Given the description of an element on the screen output the (x, y) to click on. 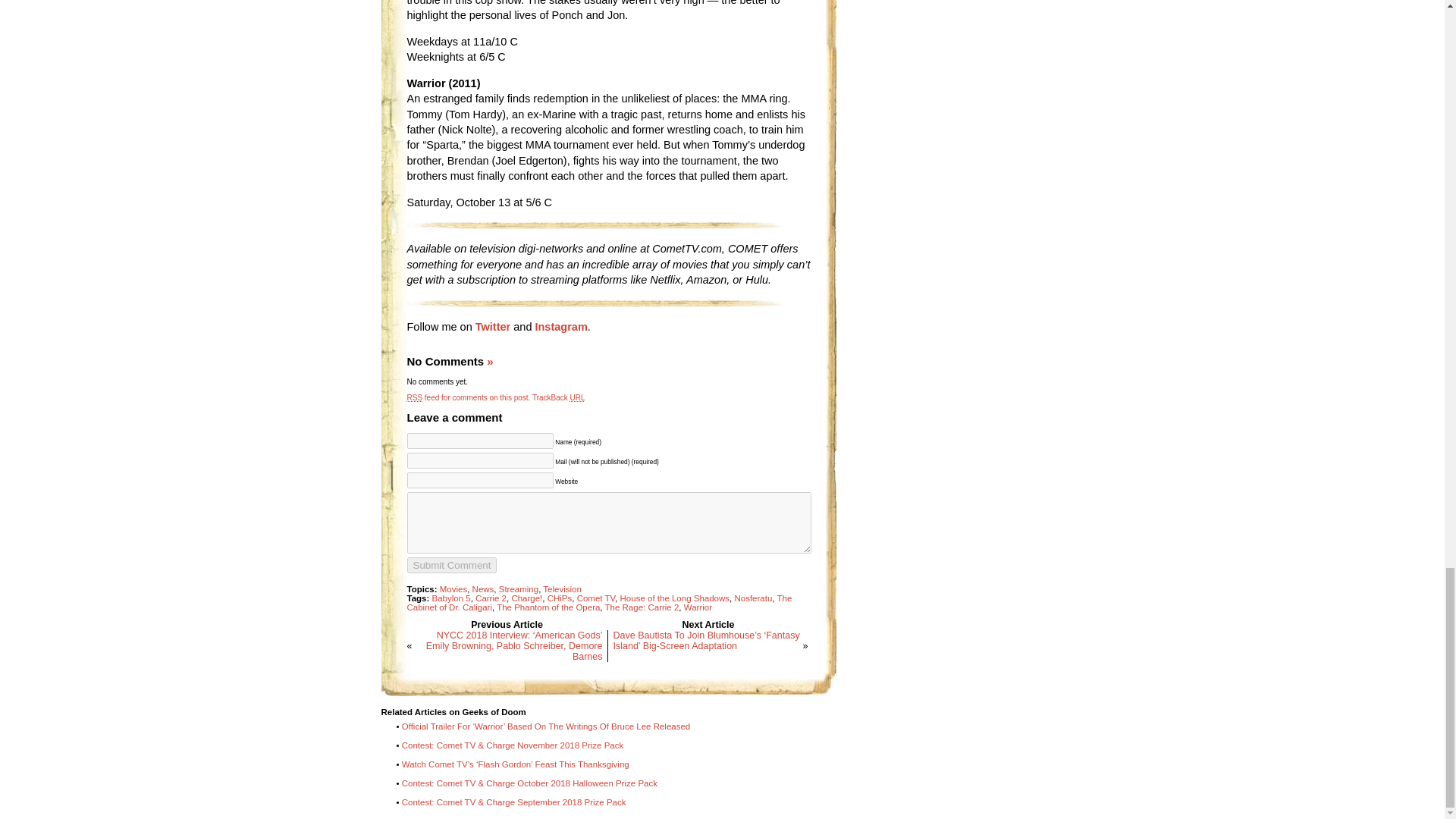
Submit Comment (451, 565)
CHiPs (559, 597)
News (483, 588)
Universal Resource Locator (577, 397)
Television (561, 588)
Comet TV (595, 597)
The Rage: Carrie 2 (642, 606)
Instagram (560, 326)
Really Simple Syndication (414, 397)
Babylon 5 (451, 597)
